Given the description of an element on the screen output the (x, y) to click on. 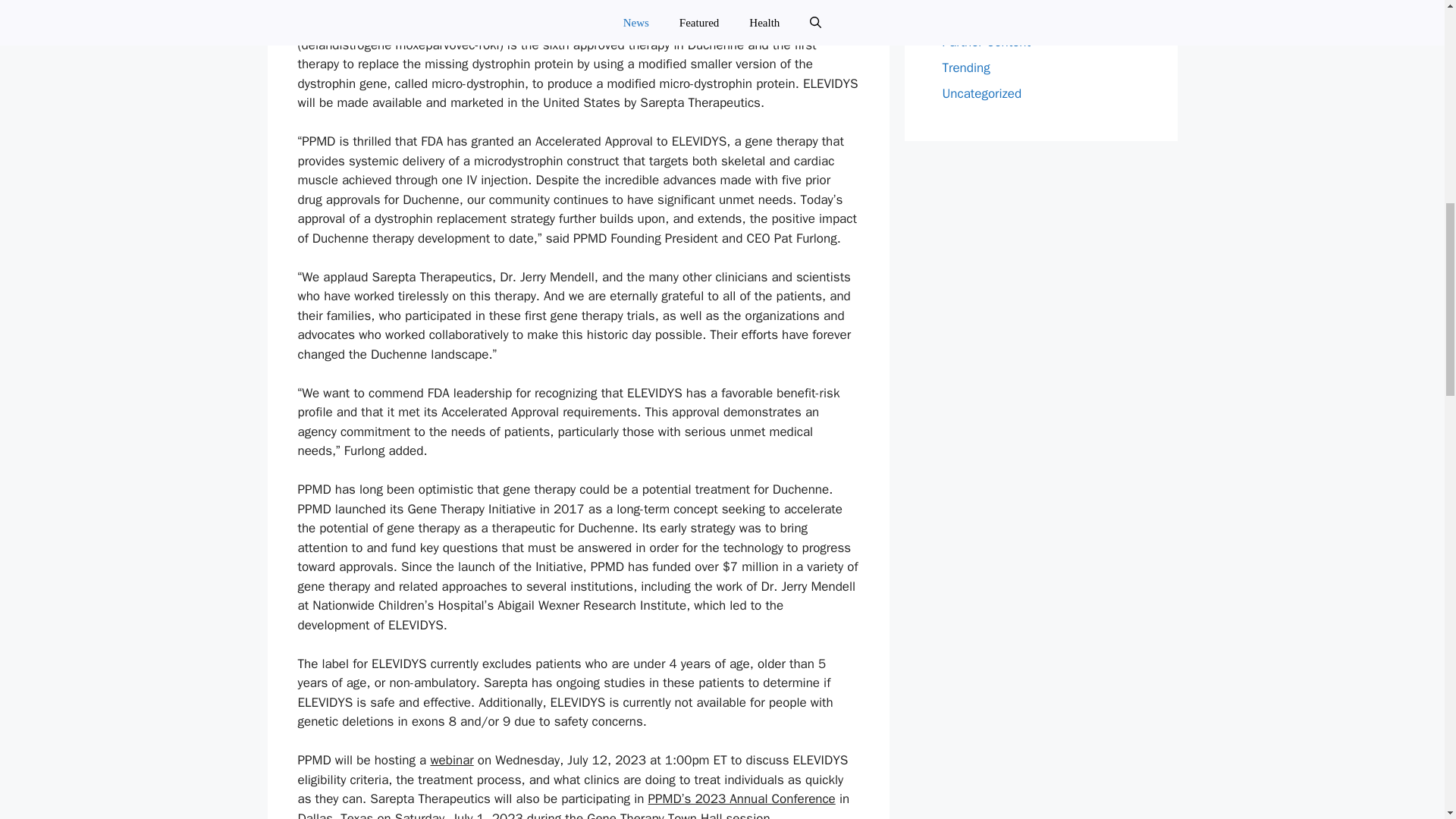
News (957, 16)
Partner Content (985, 41)
Uncategorized (982, 93)
Trending (966, 67)
